Given the description of an element on the screen output the (x, y) to click on. 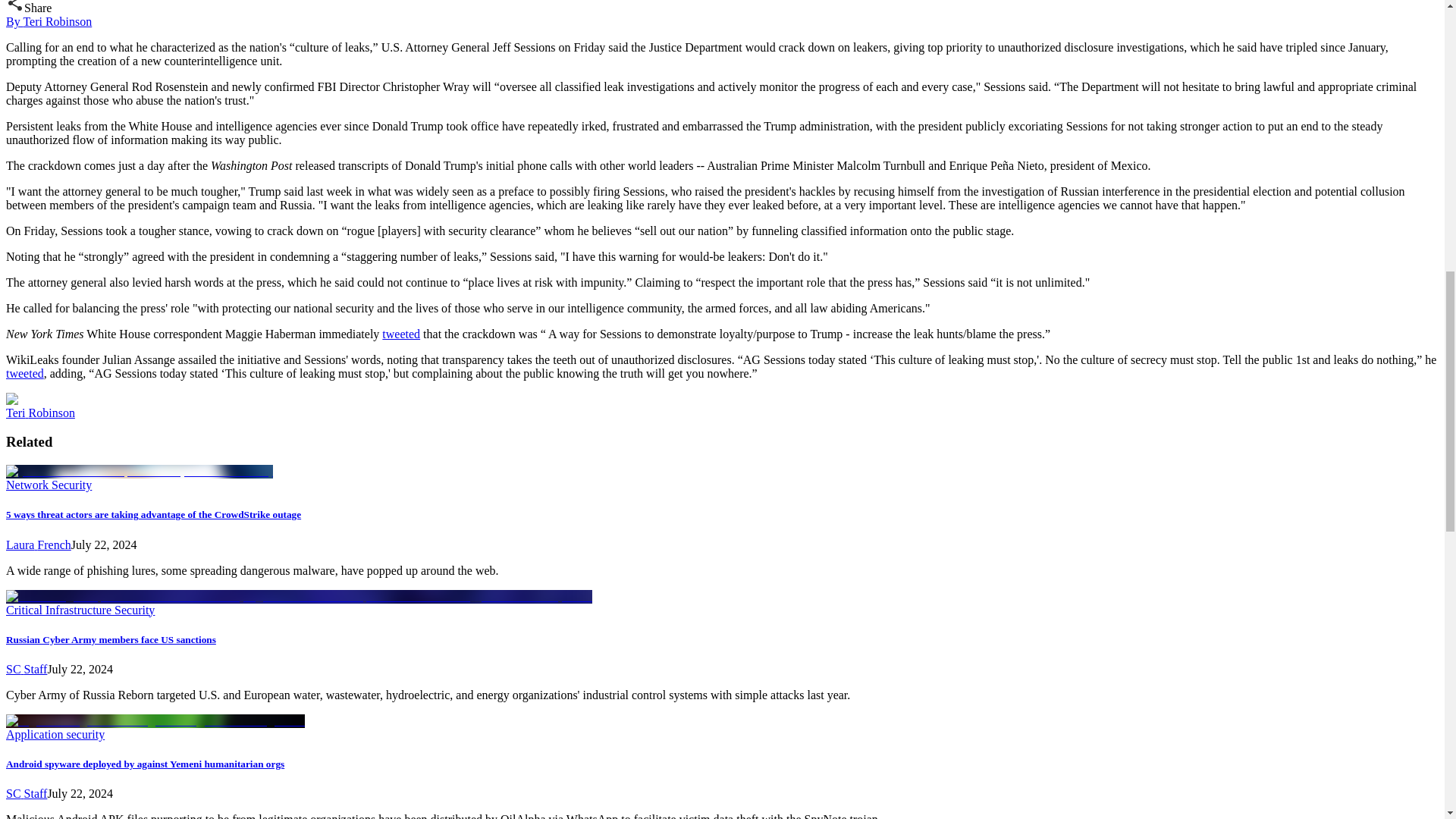
SC Staff (25, 793)
SC Staff (25, 668)
Critical Infrastructure Security (79, 609)
tweeted (24, 373)
By Teri Robinson (48, 21)
Teri Robinson (40, 412)
Application security (54, 734)
Network Security (48, 484)
tweeted (400, 333)
Laura French (38, 544)
